Given the description of an element on the screen output the (x, y) to click on. 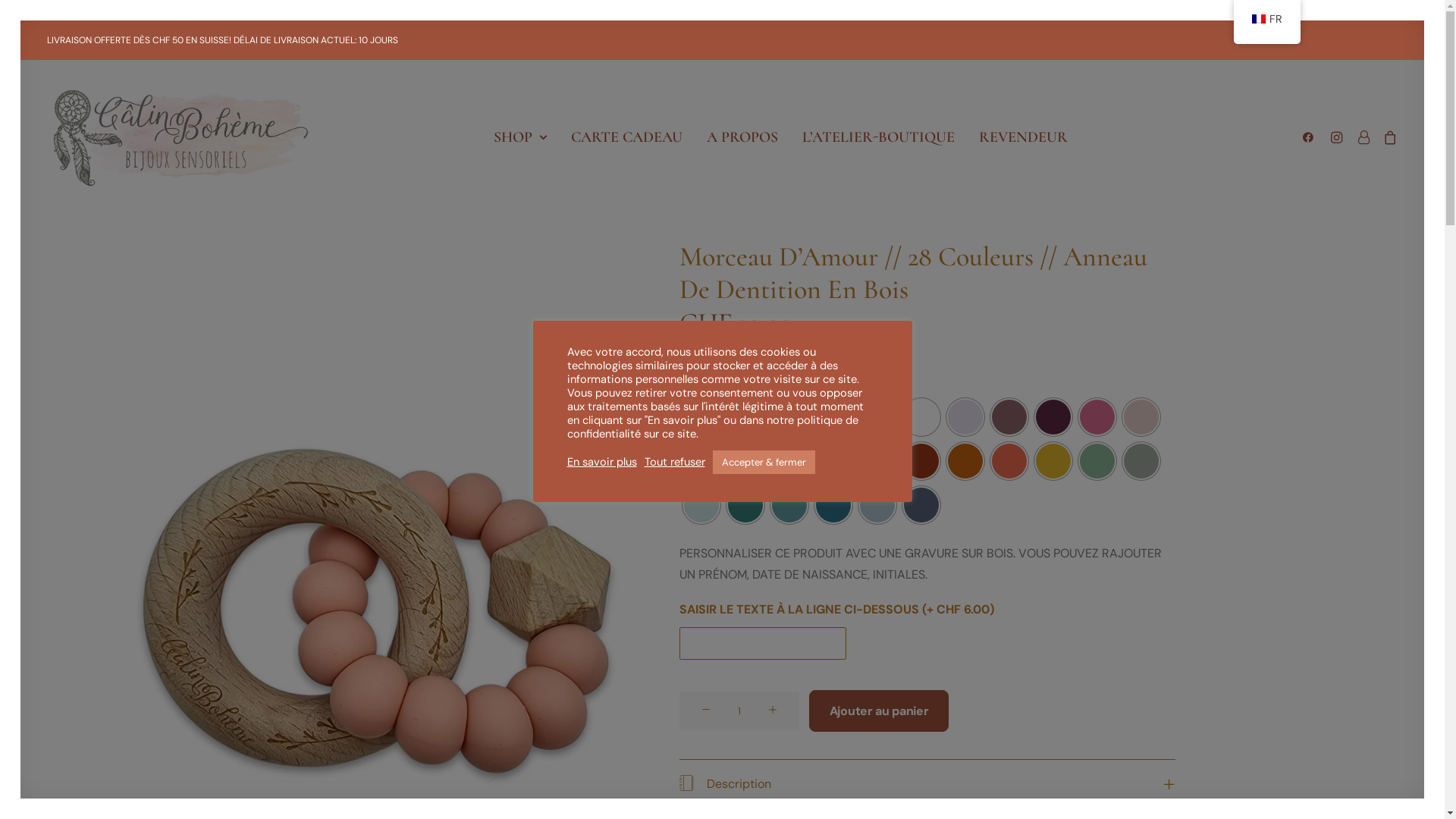
cart Element type: hover (1386, 136)
Cookie Caramel Element type: hover (833, 417)
Corail Element type: hover (1009, 461)
Bleu indigo Element type: hover (921, 505)
A PROPOS Element type: text (742, 136)
Prune Element type: hover (1009, 417)
SHOP Element type: text (520, 136)
FR Element type: text (1266, 18)
Argile rose Element type: hover (833, 461)
French Element type: hover (1257, 18)
Yvoire Element type: hover (789, 461)
Gris clair Element type: hover (877, 417)
En savoir plus Element type: text (602, 461)
Bleu canard Element type: hover (789, 505)
Vert olive Element type: hover (1141, 461)
Ajouter au panier Element type: text (879, 710)
Terracotta Element type: hover (921, 461)
Feuillage Element type: hover (701, 417)
Nude Element type: hover (745, 461)
Moutarde Element type: hover (1053, 461)
Bleu aqua Element type: hover (701, 505)
Bleu Ether Element type: hover (877, 505)
CARTE CADEAU Element type: text (626, 136)
Prairie Element type: hover (789, 417)
account Element type: hover (1361, 136)
Fleur de coton Element type: hover (745, 417)
Rose vintage Element type: hover (1097, 417)
Lilas Element type: hover (965, 417)
FR Element type: text (1266, 21)
Description Element type: text (927, 783)
Marbre Element type: hover (921, 417)
Potiron Element type: hover (965, 461)
Aubergine Element type: hover (1053, 417)
Melon Element type: hover (877, 461)
Vert sauge Element type: hover (1097, 461)
REVENDEUR Element type: text (1023, 136)
Accepter & fermer Element type: text (763, 461)
Tout refuser Element type: text (674, 461)
